Given the description of an element on the screen output the (x, y) to click on. 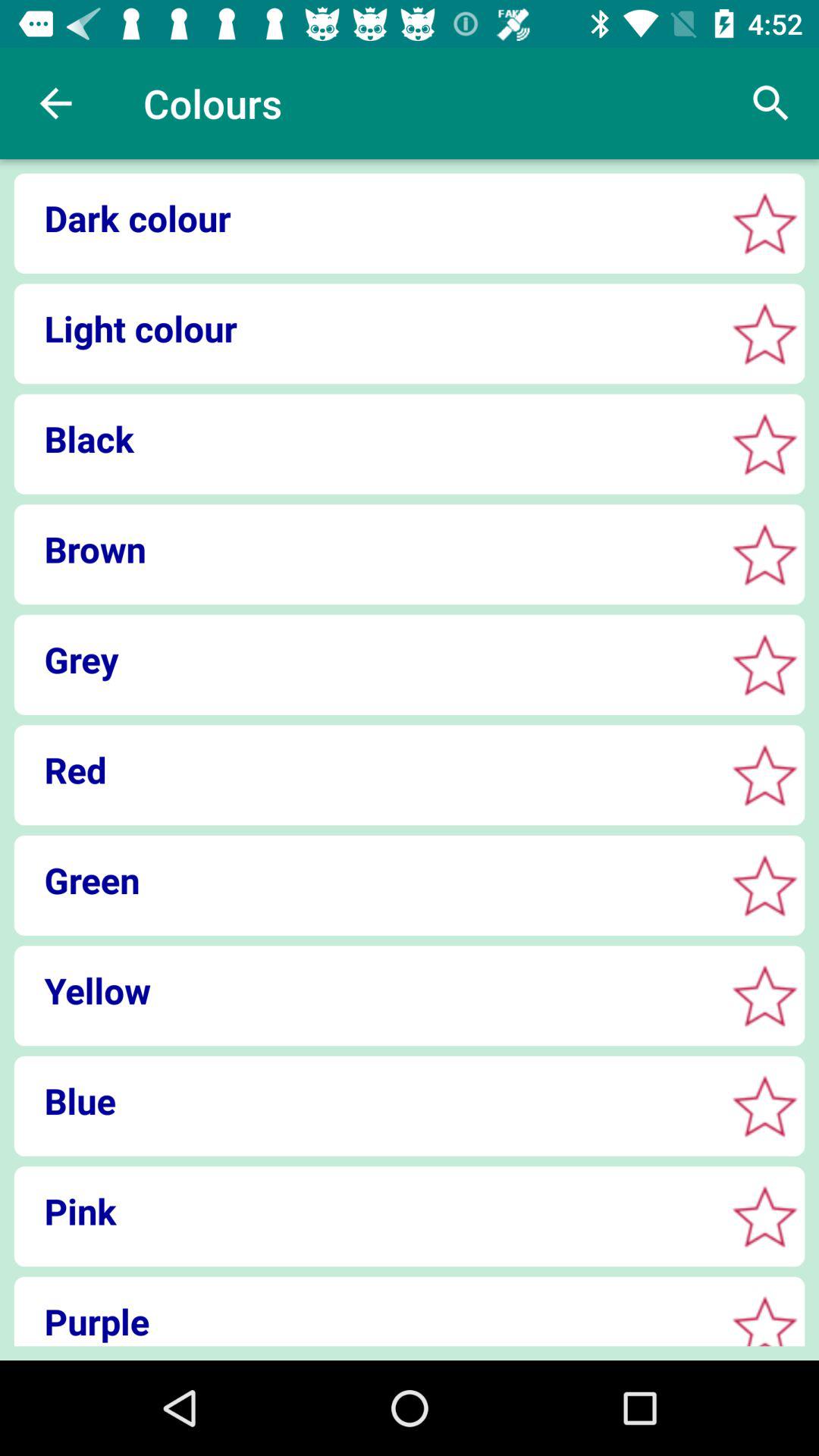
add to favorites (764, 223)
